Given the description of an element on the screen output the (x, y) to click on. 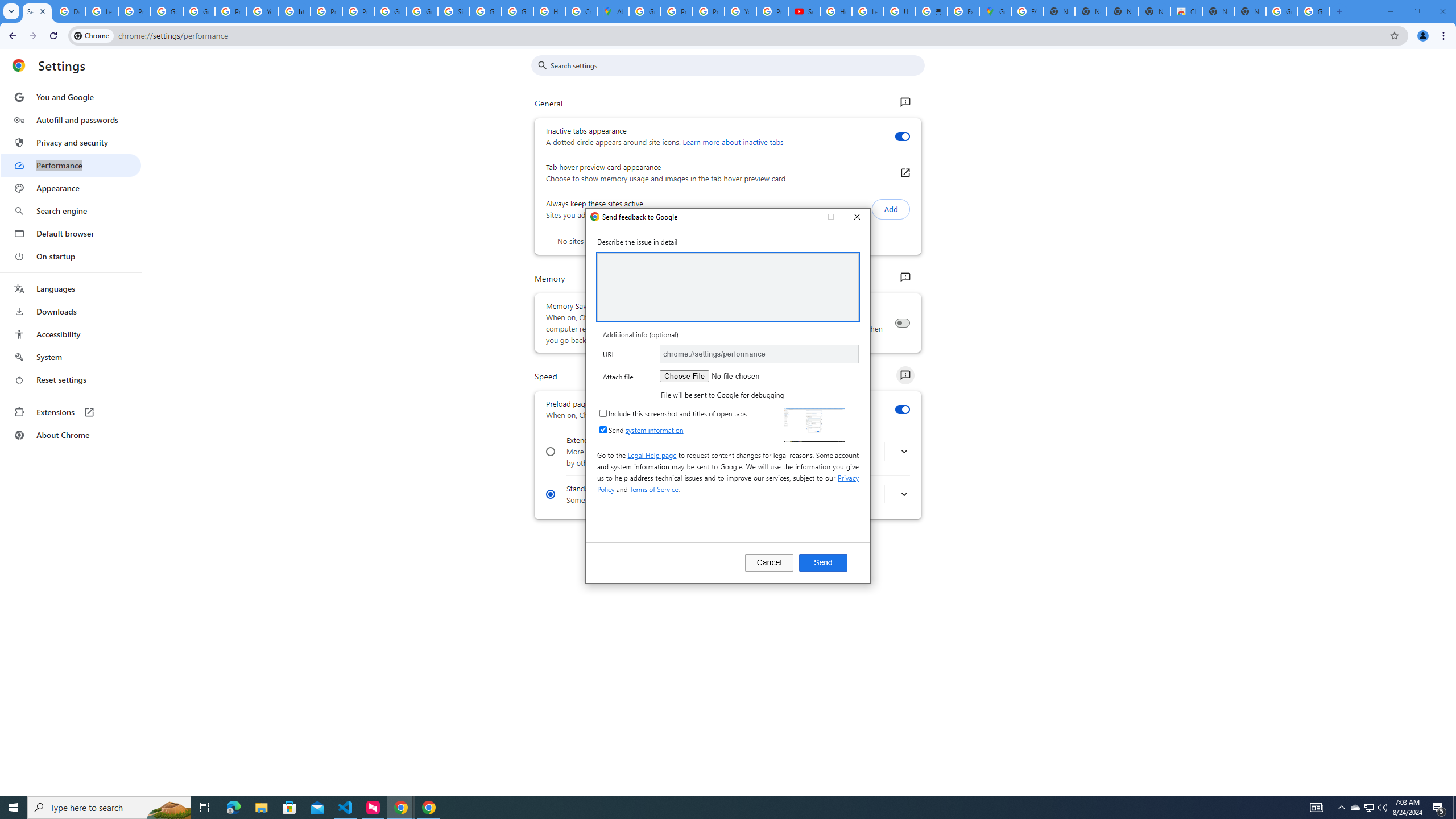
Privacy Help Center - Policies Help (326, 11)
Google Maps (995, 11)
Inactive tabs appearance (901, 136)
Appearance (70, 187)
